Given the description of an element on the screen output the (x, y) to click on. 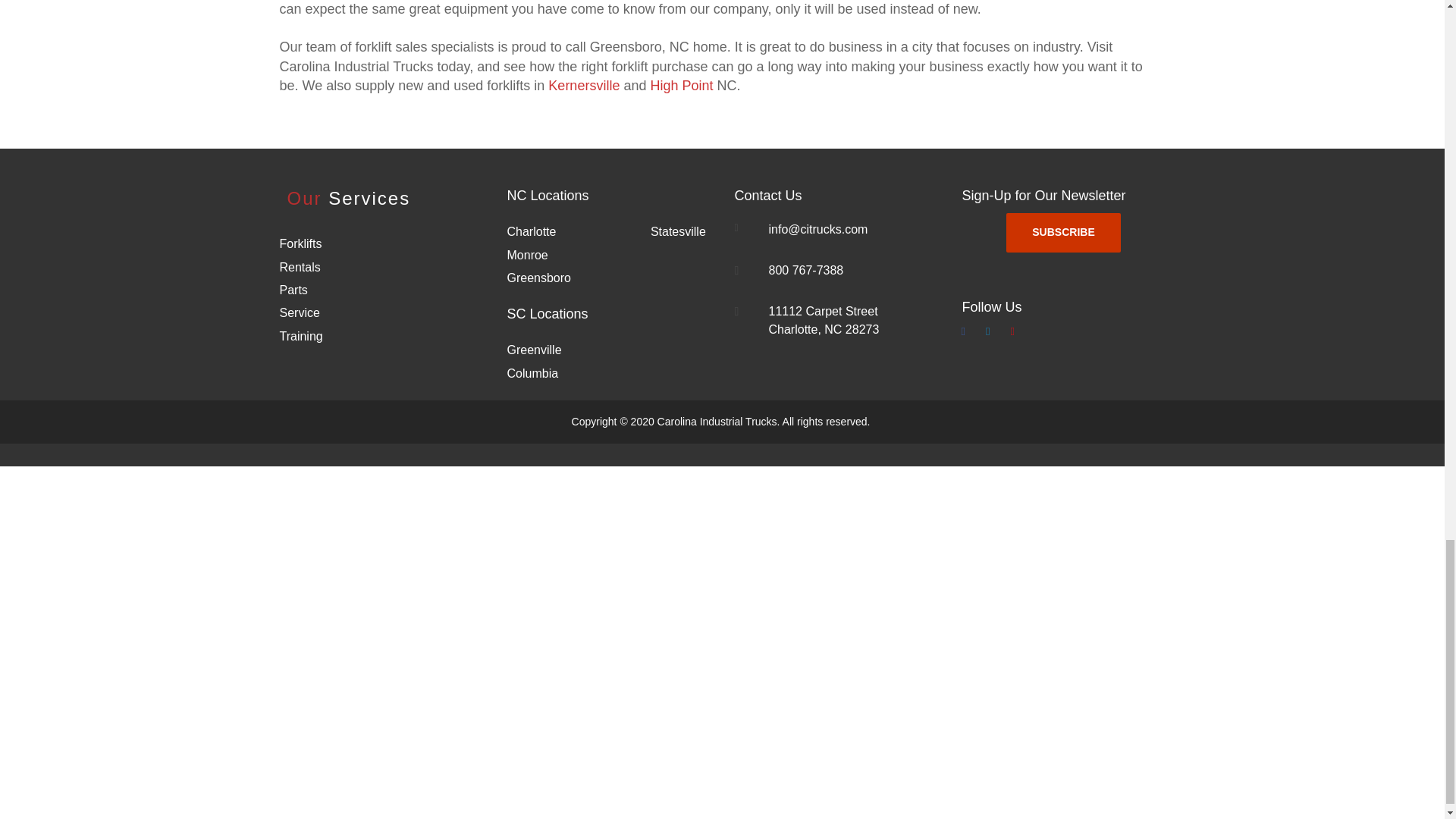
Forklifts (300, 243)
Charlotte (531, 231)
Rentals (299, 267)
Greenville (533, 349)
High Point (681, 85)
800 767-7388  (807, 269)
Greensboro (538, 277)
Monroe (526, 254)
Statesville (678, 231)
SUBSCRIBE (1062, 231)
Kernersville (584, 85)
Columbia (531, 373)
Service (298, 312)
Parts (293, 289)
Training (300, 336)
